Given the description of an element on the screen output the (x, y) to click on. 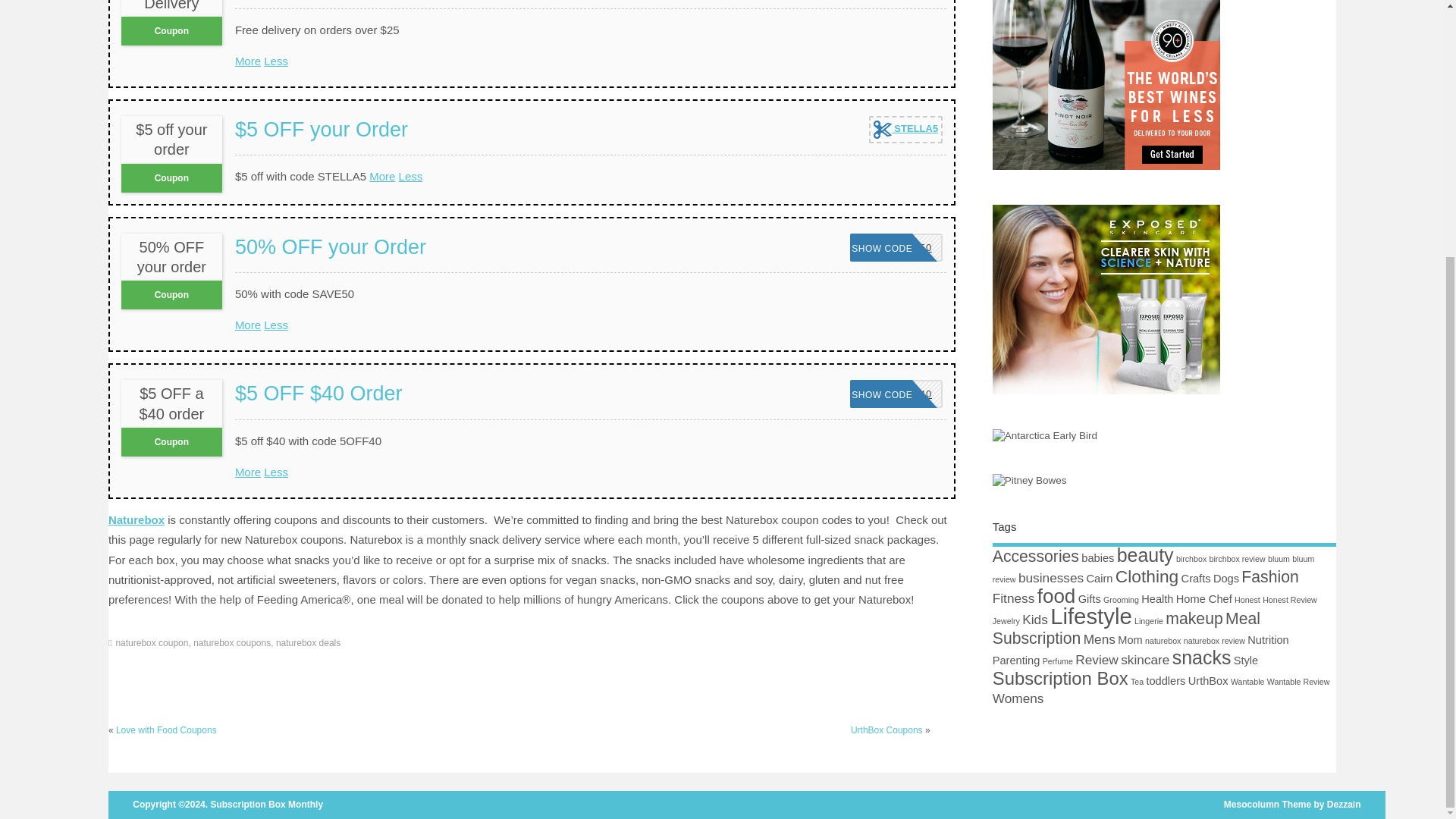
Click Here to Show Code (896, 247)
More (247, 324)
STELLA5 (905, 129)
naturebox coupon (151, 643)
Less (275, 324)
More (896, 247)
Less (896, 393)
Click To Copy Coupon (381, 175)
Less (275, 60)
naturebox deals (905, 129)
Love with Food Coupons (275, 472)
naturebox coupons (308, 643)
UrthBox Coupons (166, 729)
